Given the description of an element on the screen output the (x, y) to click on. 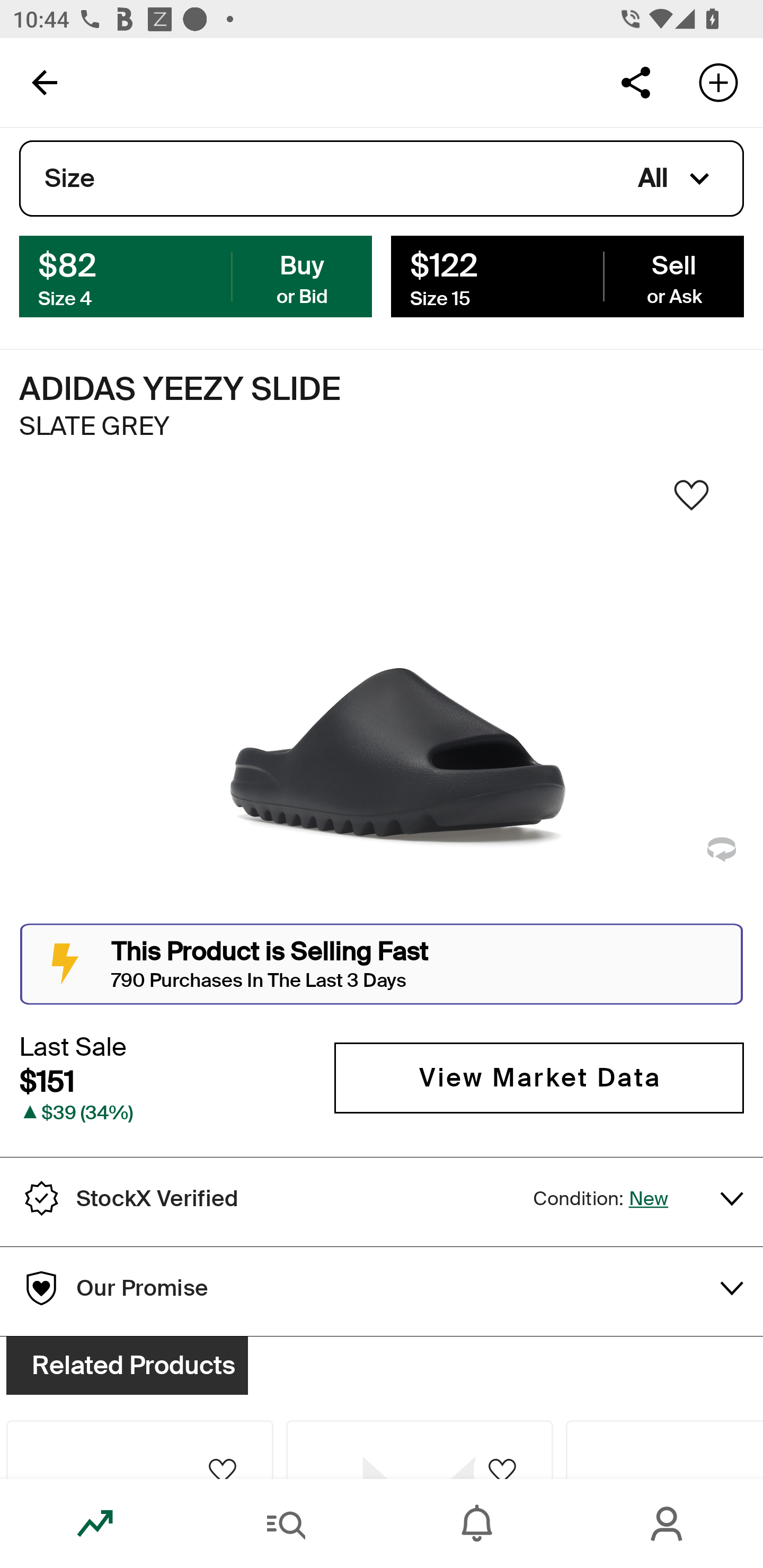
Share (635, 81)
Add (718, 81)
Size All (381, 178)
$82 Buy Size 4 or Bid (195, 275)
$122 Sell Size 15 or Ask (566, 275)
Sneaker Image (381, 699)
View Market Data (538, 1077)
Search (285, 1523)
Inbox (476, 1523)
Account (667, 1523)
